Given the description of an element on the screen output the (x, y) to click on. 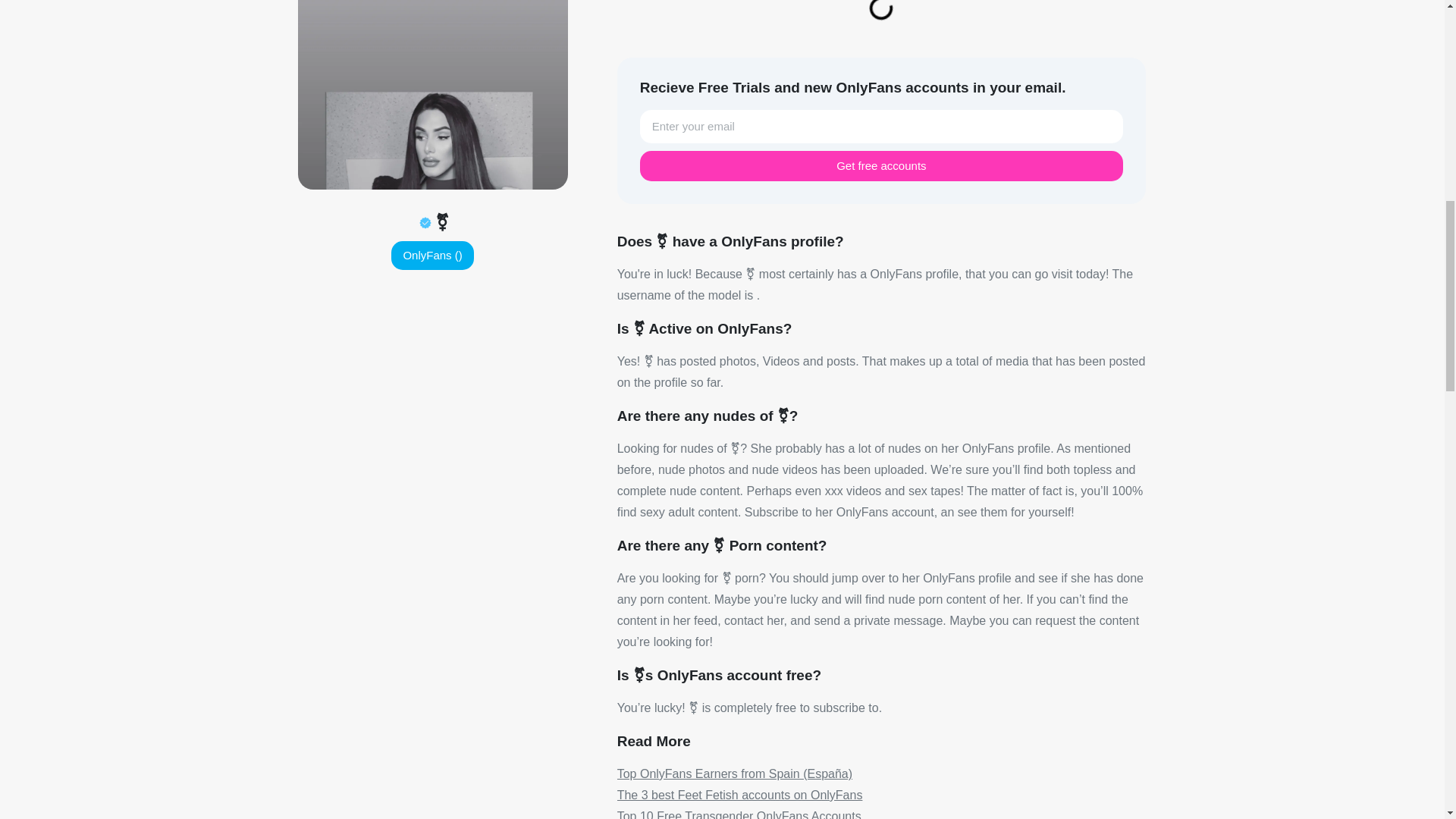
Get free accounts (881, 165)
Top 10 Free Transgender OnlyFans Accounts (739, 814)
The 3 best Feet Fetish accounts on OnlyFans (740, 794)
